Given the description of an element on the screen output the (x, y) to click on. 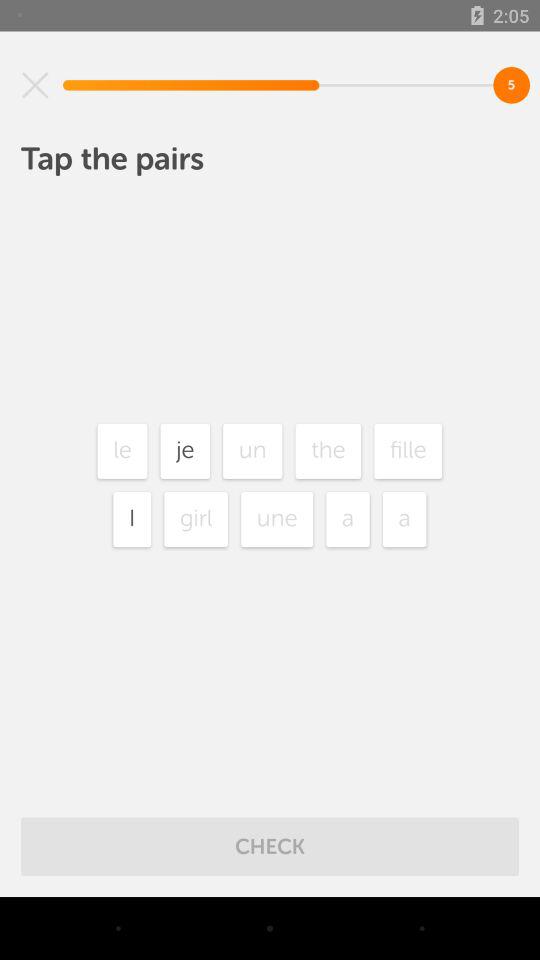
choose the check (270, 846)
